Given the description of an element on the screen output the (x, y) to click on. 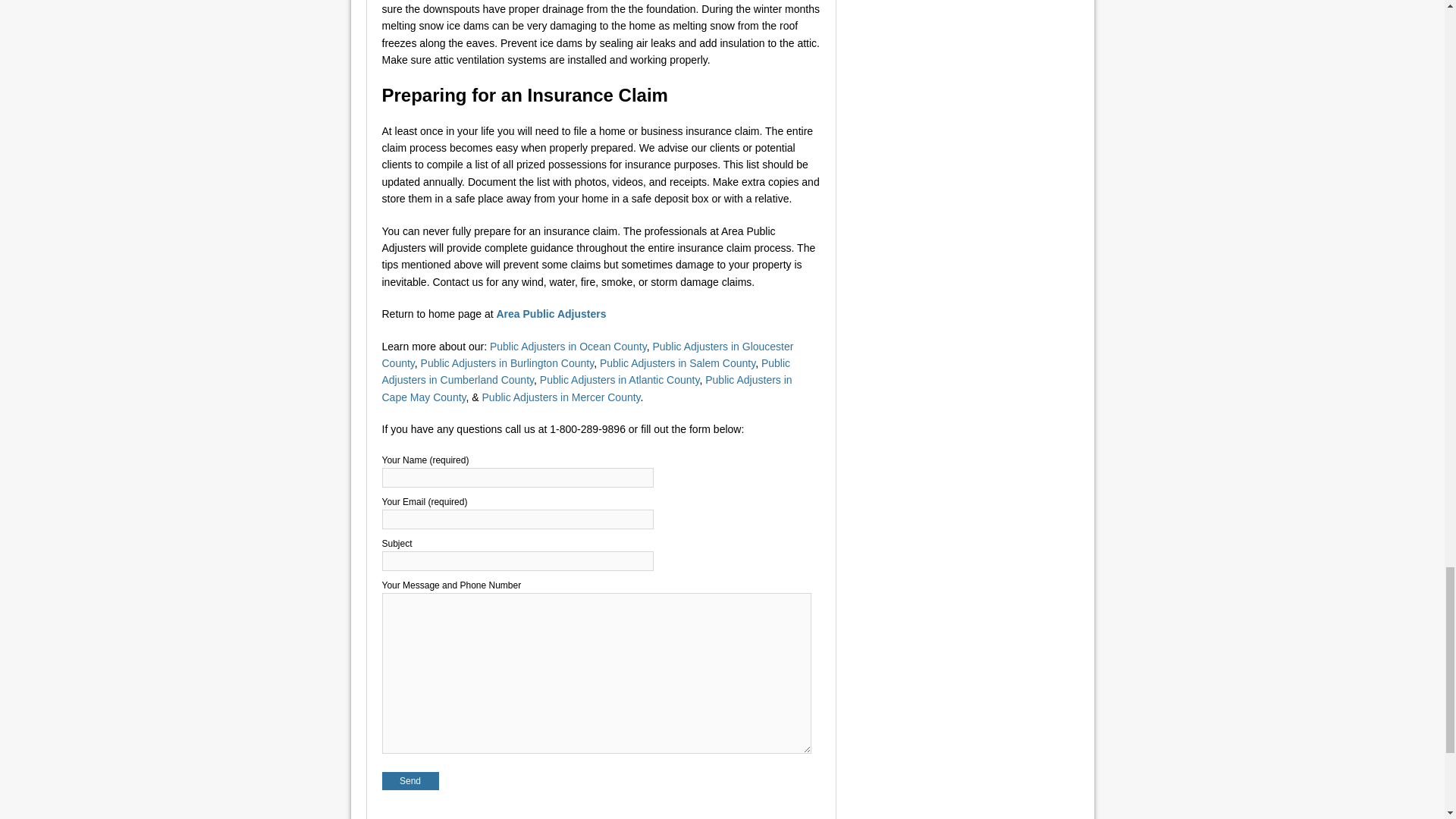
Public Adjusters in Gloucester County (587, 354)
Public Adjusters in Ocean County (567, 346)
Public Adjusters in Mercer County (560, 397)
Public Adjusters in Salem County (677, 363)
Area Public Adjusters (550, 313)
Send (410, 781)
Public Adjusters in Atlantic County (620, 379)
Public Adjusters in Burlington County (507, 363)
Public Adjusters in Cape May County (586, 387)
Public Adjusters in Cumberland County (585, 371)
Send (410, 781)
